Given the description of an element on the screen output the (x, y) to click on. 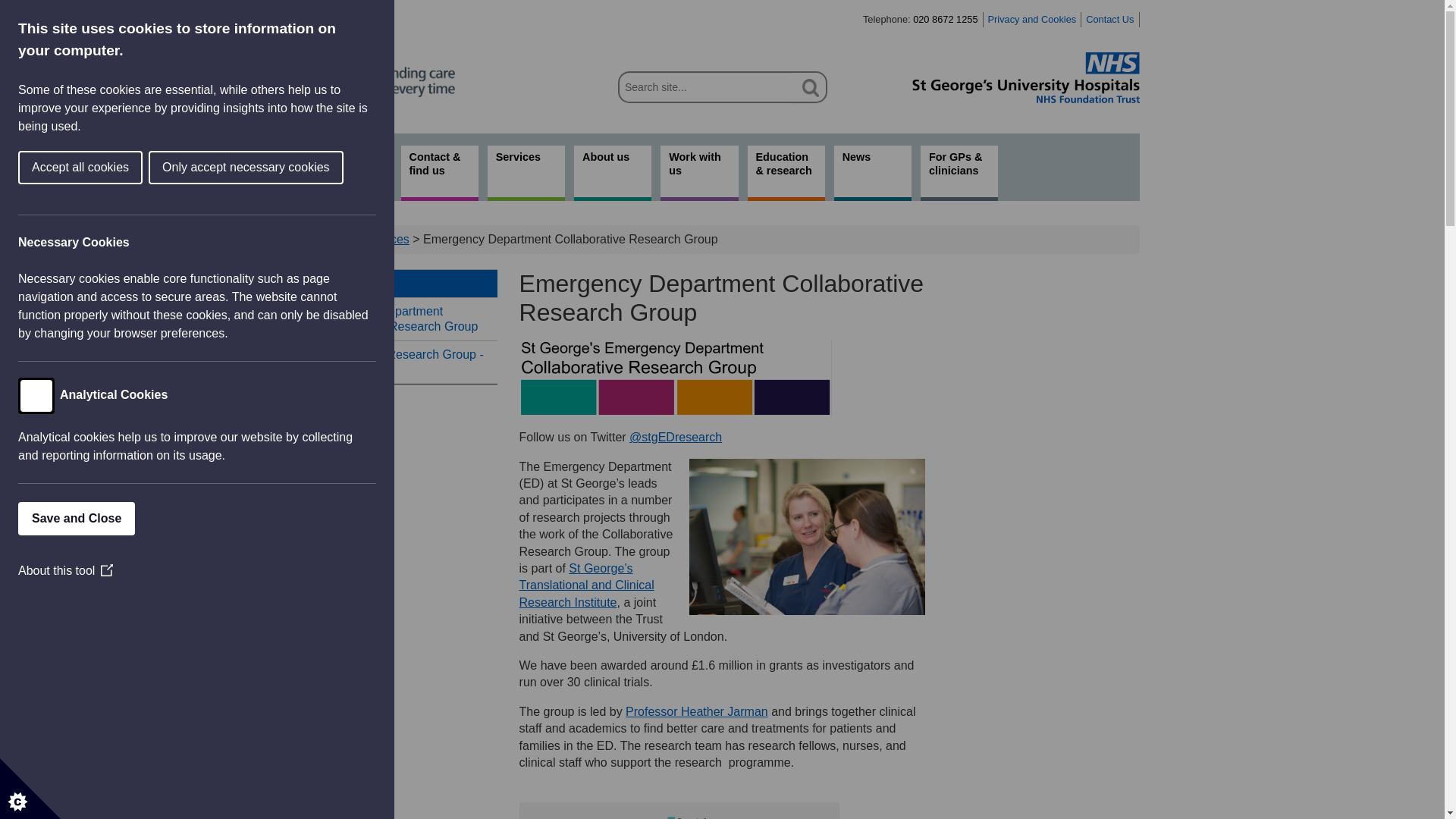
Visiting us (440, 172)
Contact Us (1110, 19)
Services (525, 172)
St George's University Hospitals NHS Foundation Trust (1024, 77)
Privacy and Cookies (1032, 19)
020 8672 1255 (944, 19)
Contact and find us (1110, 19)
About us (611, 172)
Services (400, 283)
Work with us (699, 172)
